Given the description of an element on the screen output the (x, y) to click on. 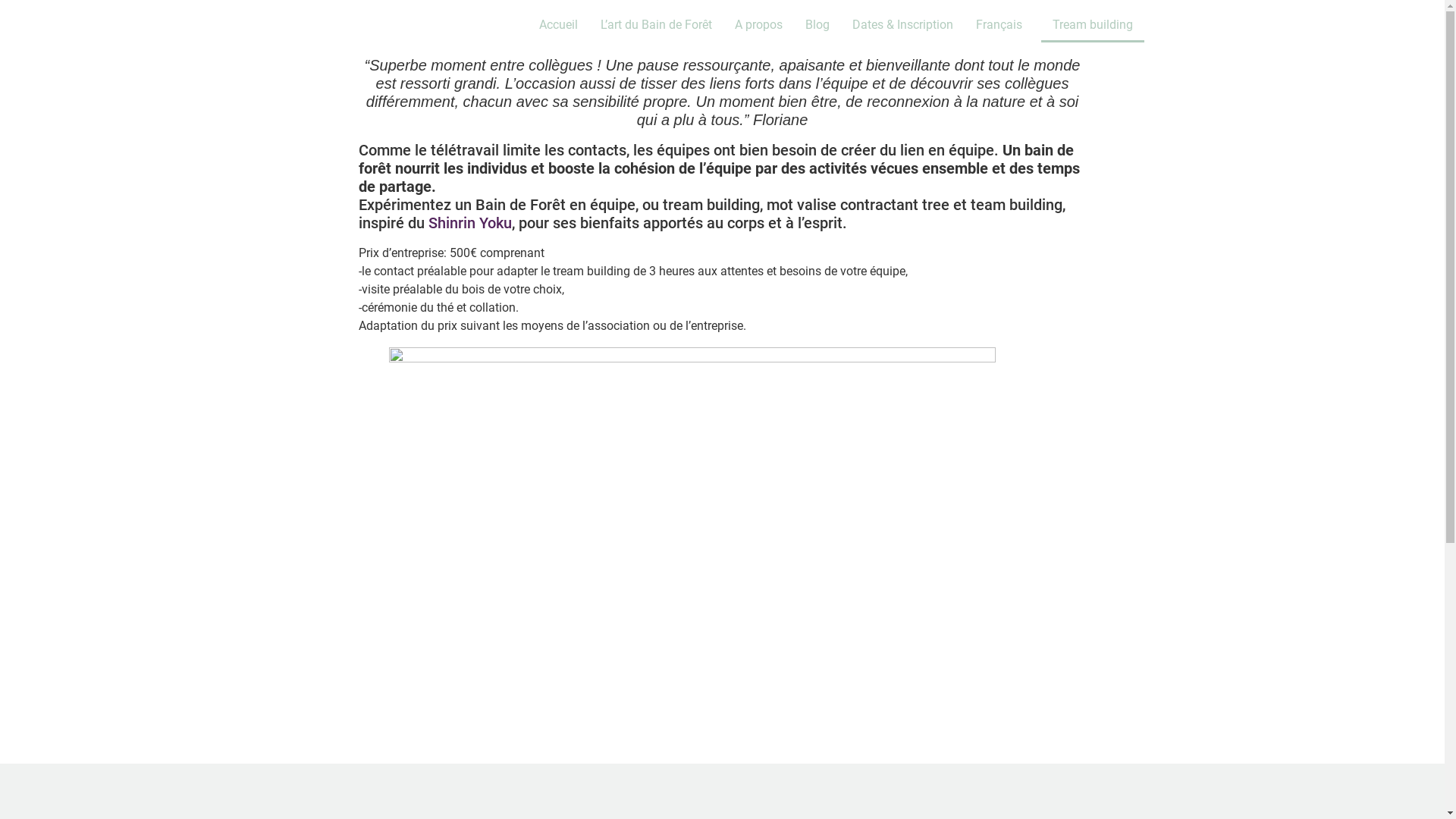
A propos Element type: text (758, 24)
Blog Element type: text (816, 24)
Dates & Inscription Element type: text (902, 24)
Tream building Element type: text (1092, 24)
Accueil Element type: text (558, 24)
Shinrin Yoku Element type: text (469, 222)
